Given the description of an element on the screen output the (x, y) to click on. 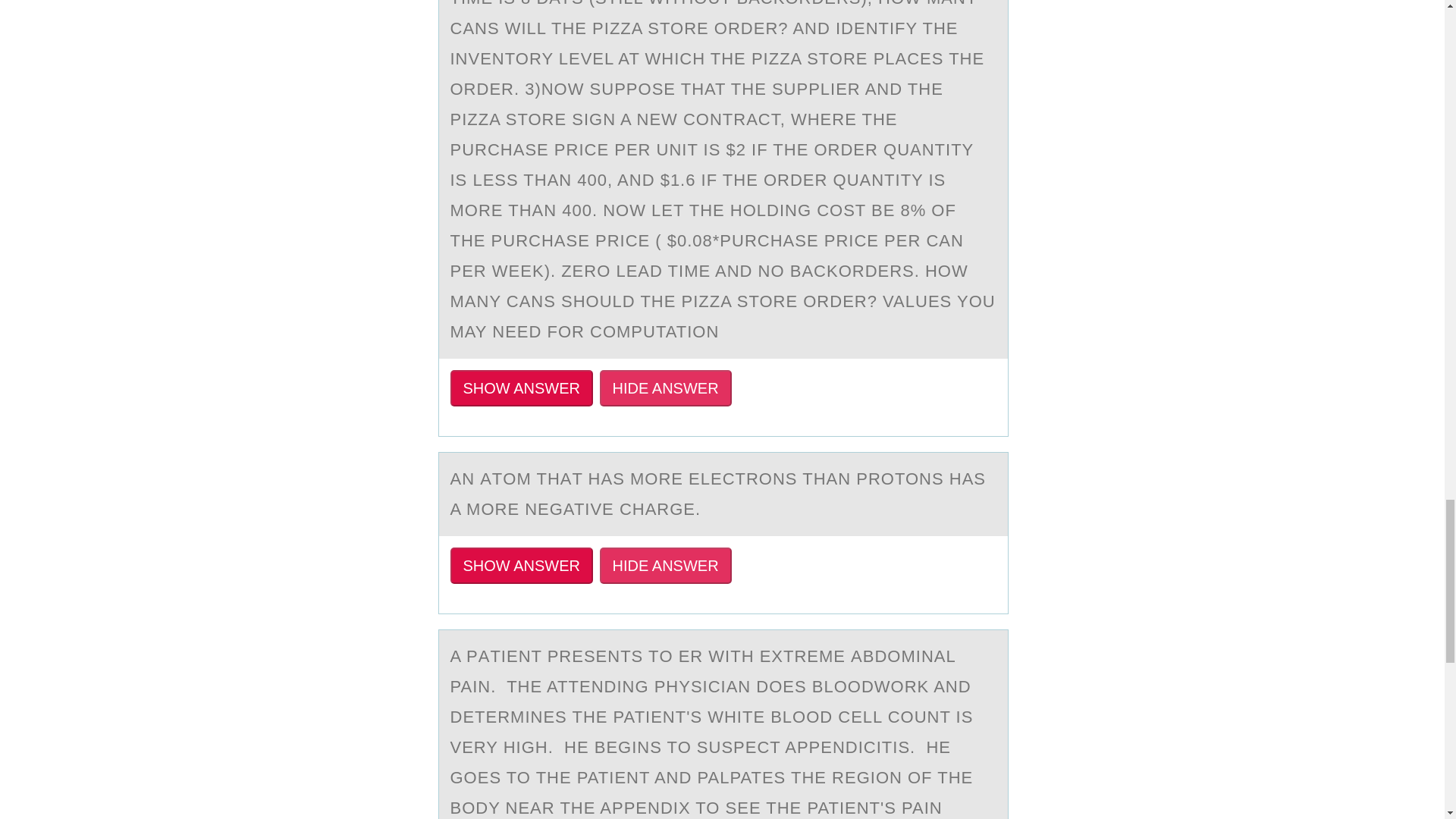
HIDE ANSWER (665, 388)
SHOW ANSWER (520, 388)
SHOW ANSWER (520, 565)
HIDE ANSWER (665, 565)
